Given the description of an element on the screen output the (x, y) to click on. 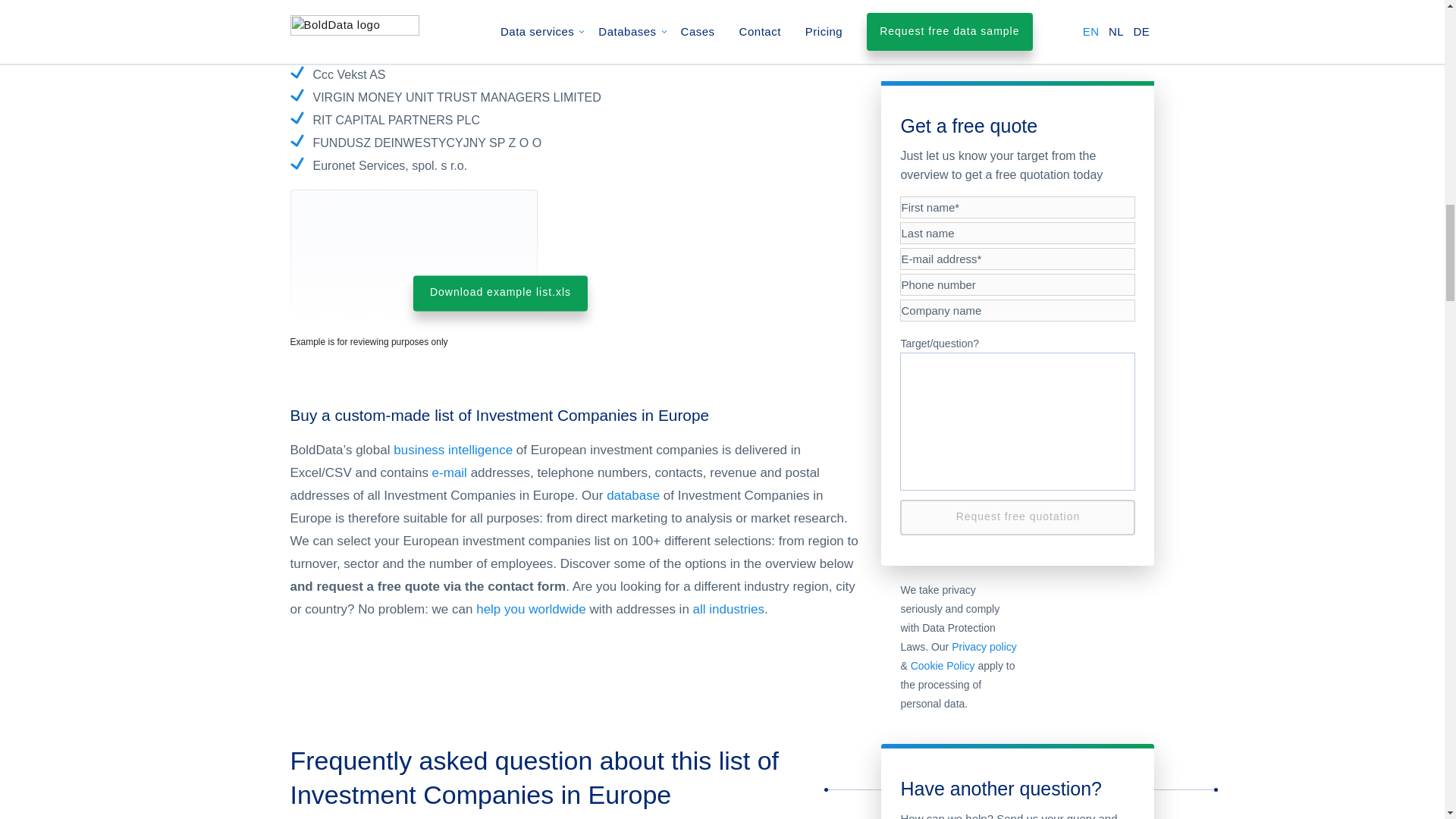
business intelligence (452, 450)
Download example list.xls (500, 293)
e-mail (449, 472)
database (633, 495)
